Given the description of an element on the screen output the (x, y) to click on. 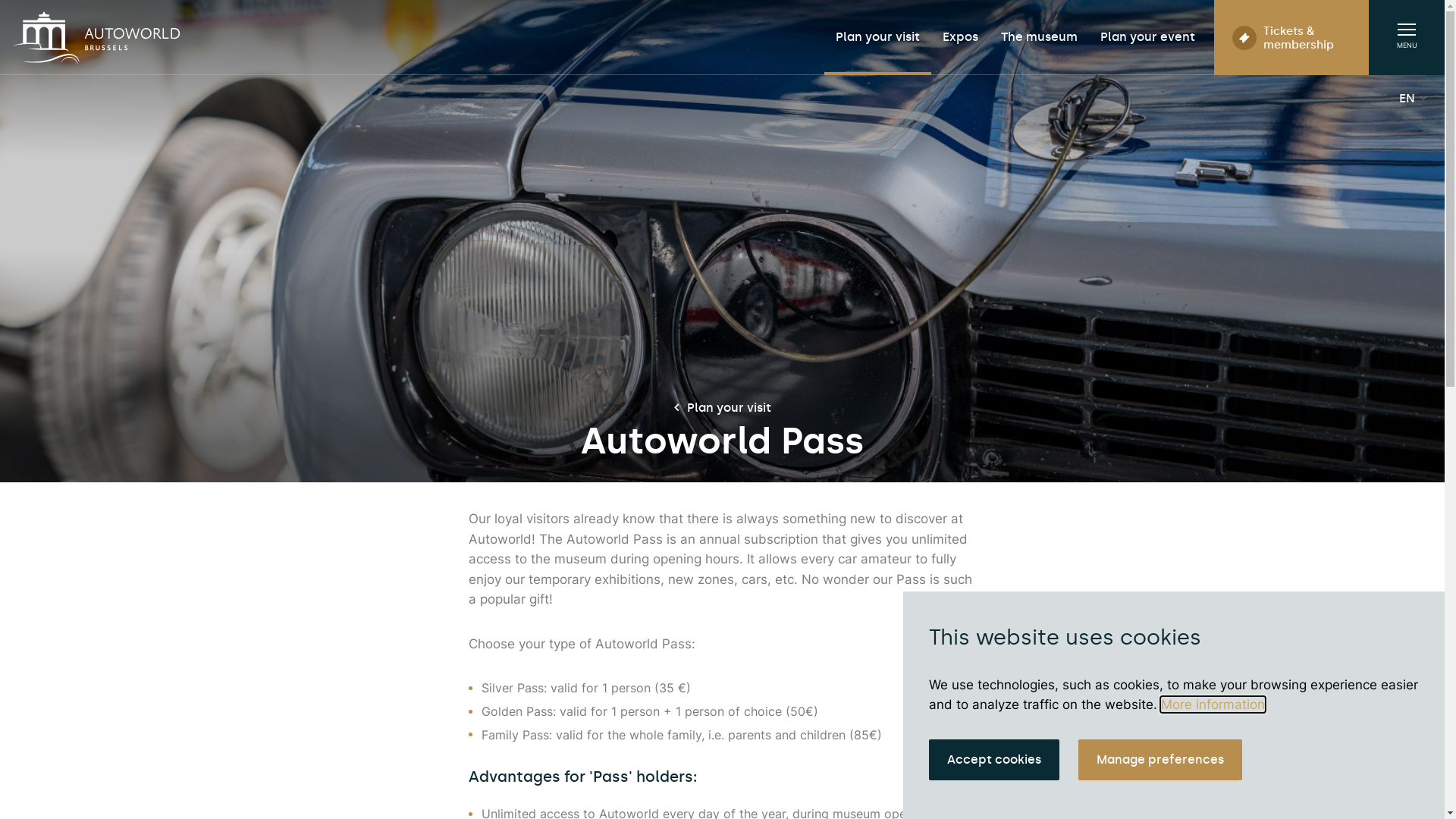
Manage preferences Element type: text (1160, 759)
Plan your visit Element type: text (877, 37)
Plan your visit Element type: text (722, 407)
Plan your event Element type: text (1147, 37)
The museum Element type: text (1038, 37)
MENU Element type: text (1406, 37)
Expos Element type: text (960, 37)
Accept cookies Element type: text (993, 759)
More information Element type: text (1212, 704)
0194__YNO9545.jpg Element type: hover (722, 241)
Tickets & membership Element type: text (1291, 37)
